Given the description of an element on the screen output the (x, y) to click on. 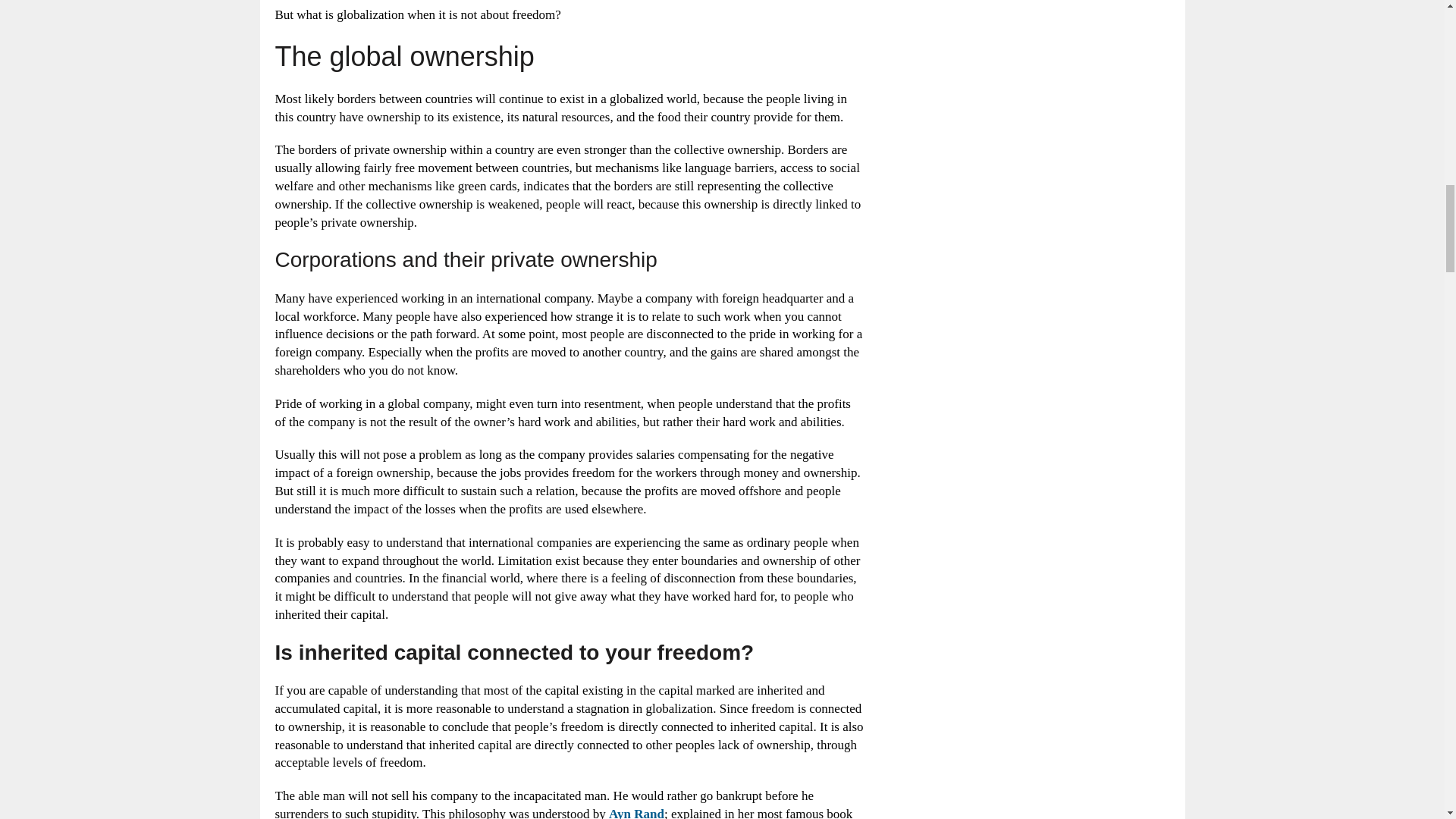
Ayn Rand (635, 812)
